Given the description of an element on the screen output the (x, y) to click on. 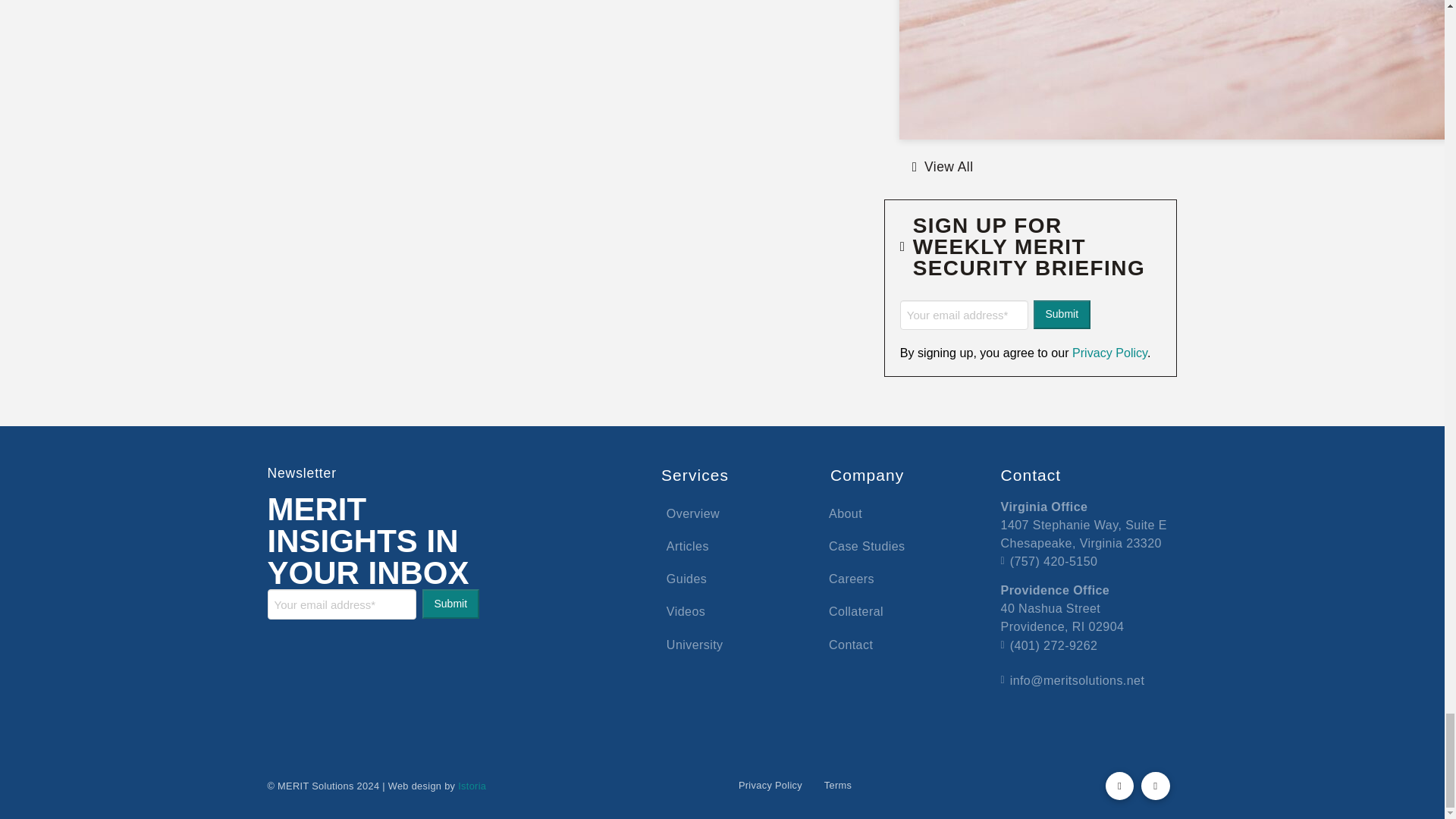
View All (942, 167)
Guides (686, 578)
Videos (685, 611)
Case Studies (866, 545)
Submit (1061, 315)
University (694, 644)
SIGN UP FOR WEEKLY MERIT SECURITY BRIEFING (1030, 257)
Overview (692, 513)
Privacy Policy (1107, 352)
Collateral (855, 611)
Careers (851, 578)
About (845, 513)
Contact (850, 644)
Submit (450, 603)
Articles (687, 545)
